Given the description of an element on the screen output the (x, y) to click on. 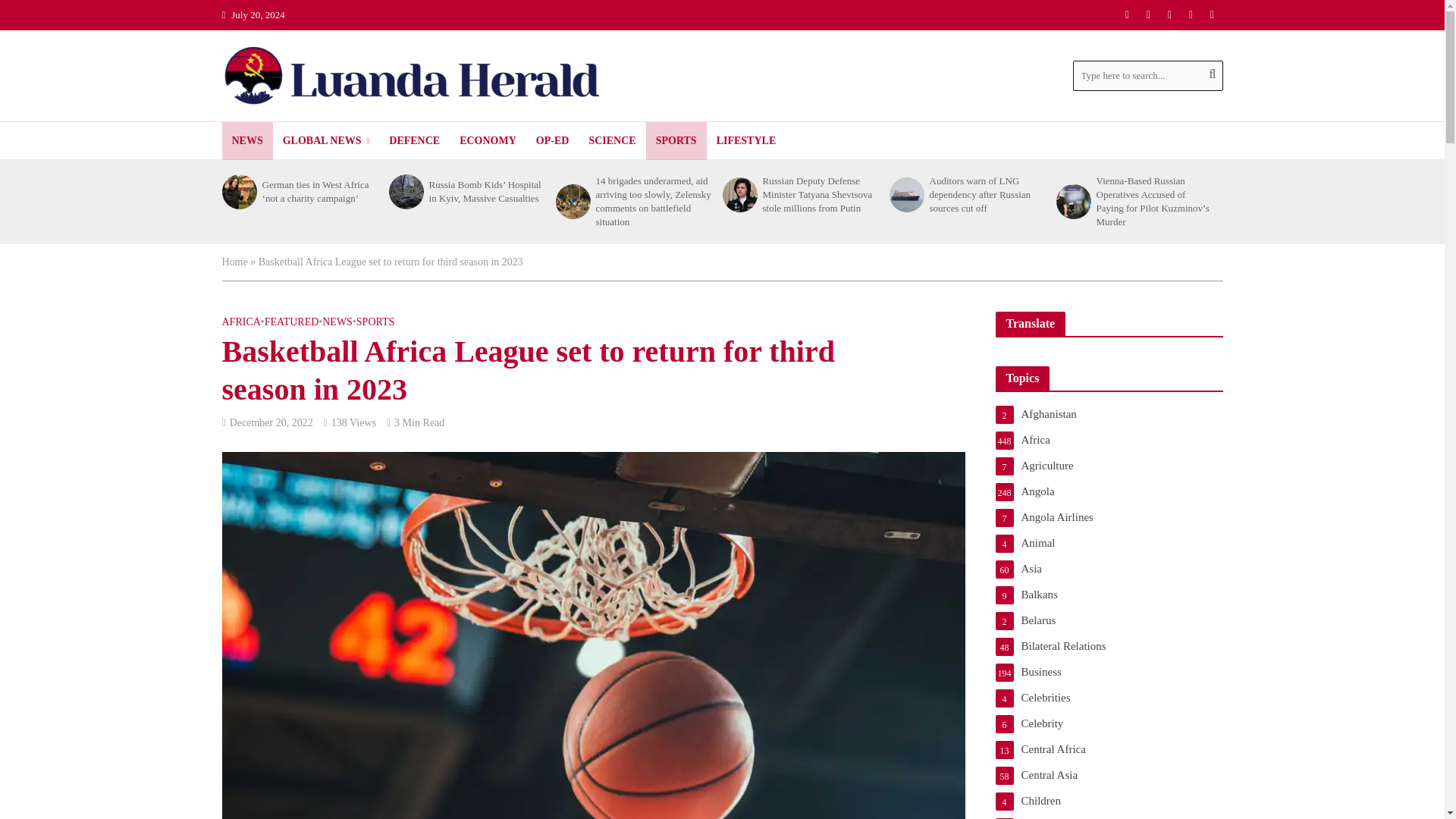
GLOBAL NEWS (326, 140)
NEWS (246, 140)
